Given the description of an element on the screen output the (x, y) to click on. 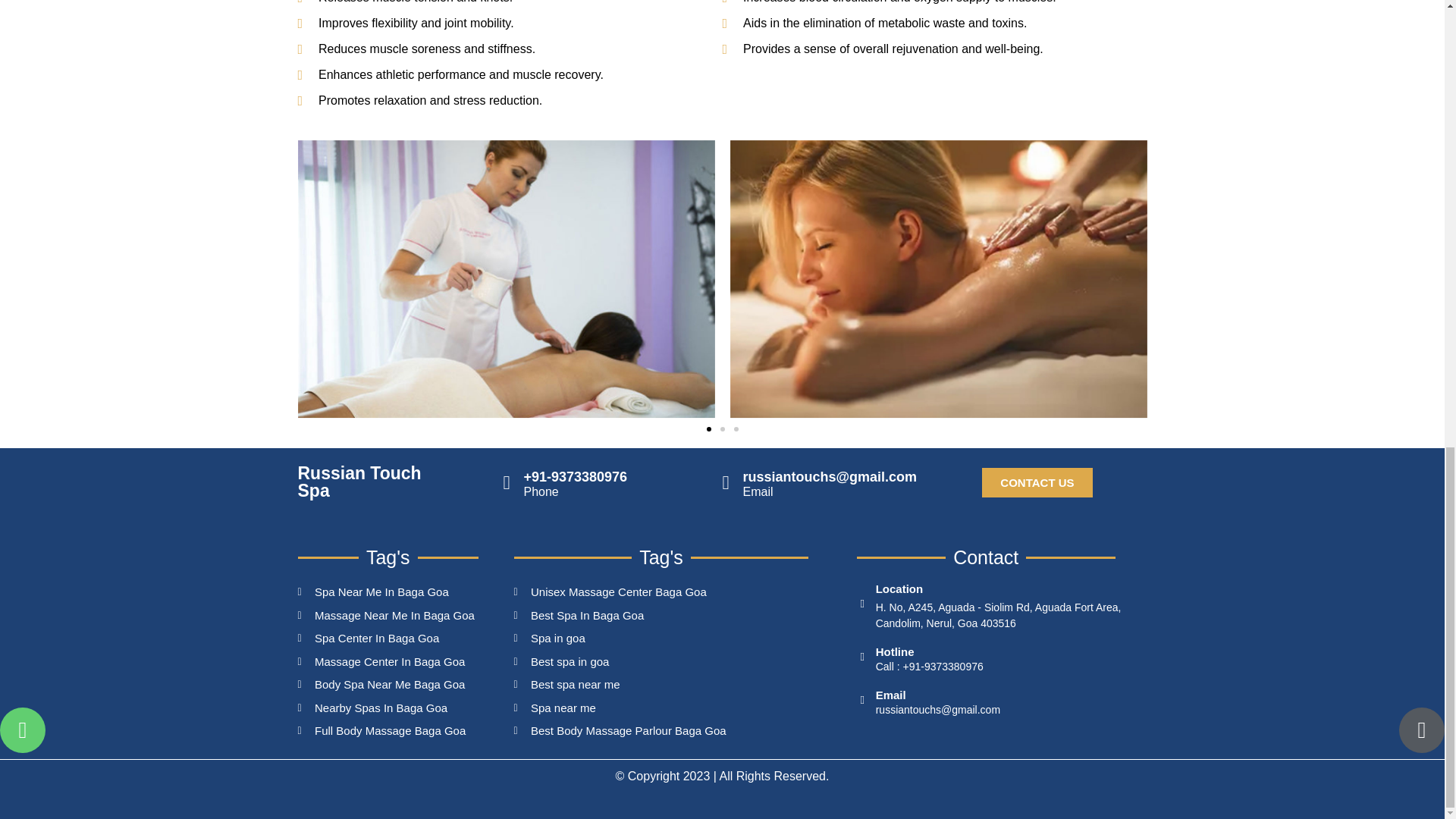
Russian Touch Spa (358, 481)
